Given the description of an element on the screen output the (x, y) to click on. 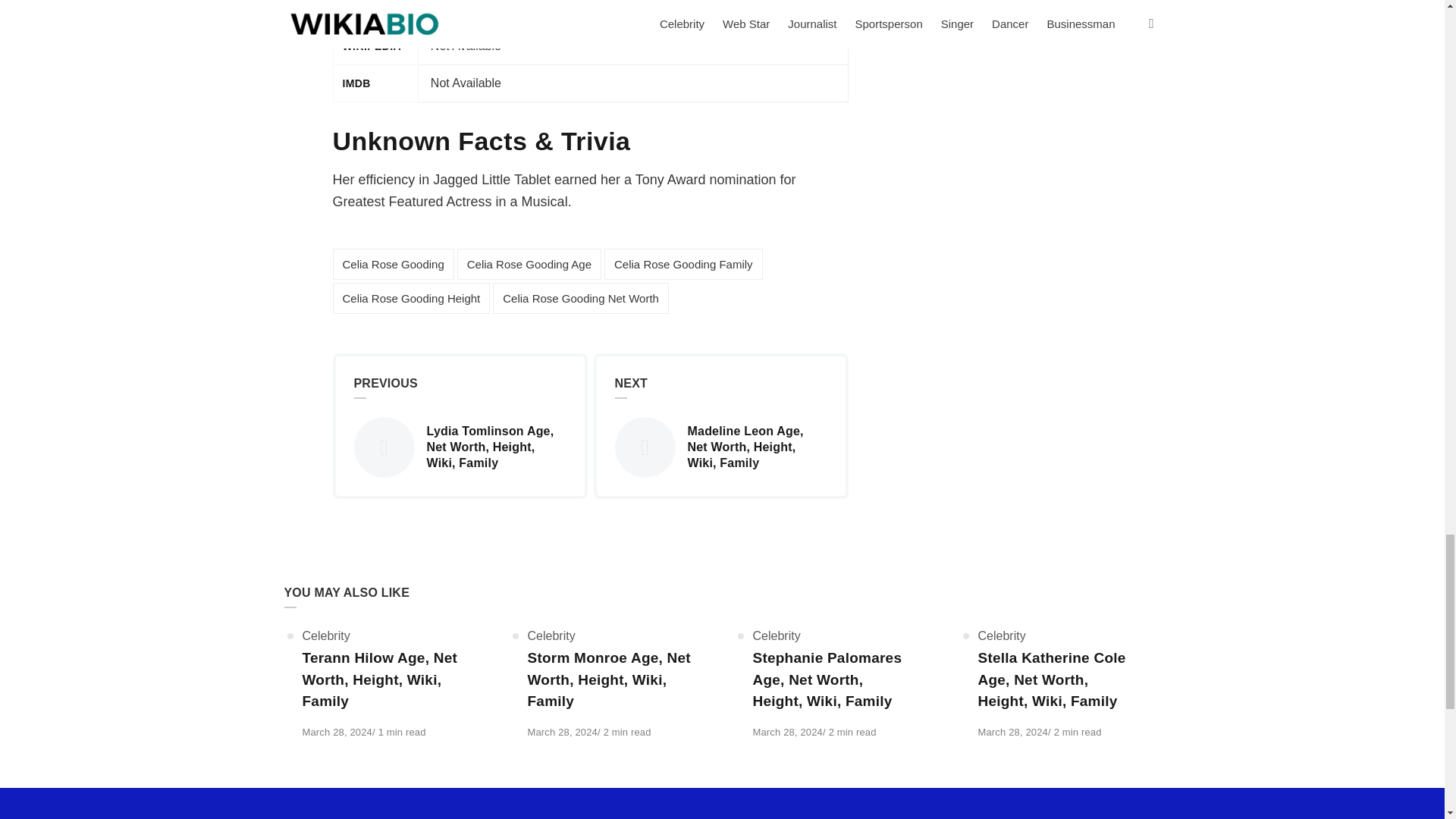
Celia Rose Gooding Height (410, 297)
Madeline Leon Age, Net Worth, Height, Wiki, Family (720, 446)
March 28, 2024 (336, 731)
Celebrity (325, 635)
Celia Rose Gooding (391, 264)
March 28, 2024 (561, 731)
March 28, 2024 (787, 731)
March 28, 2024 (336, 731)
Celia Rose Gooding Family (683, 264)
March 28, 2024 (787, 731)
